Given the description of an element on the screen output the (x, y) to click on. 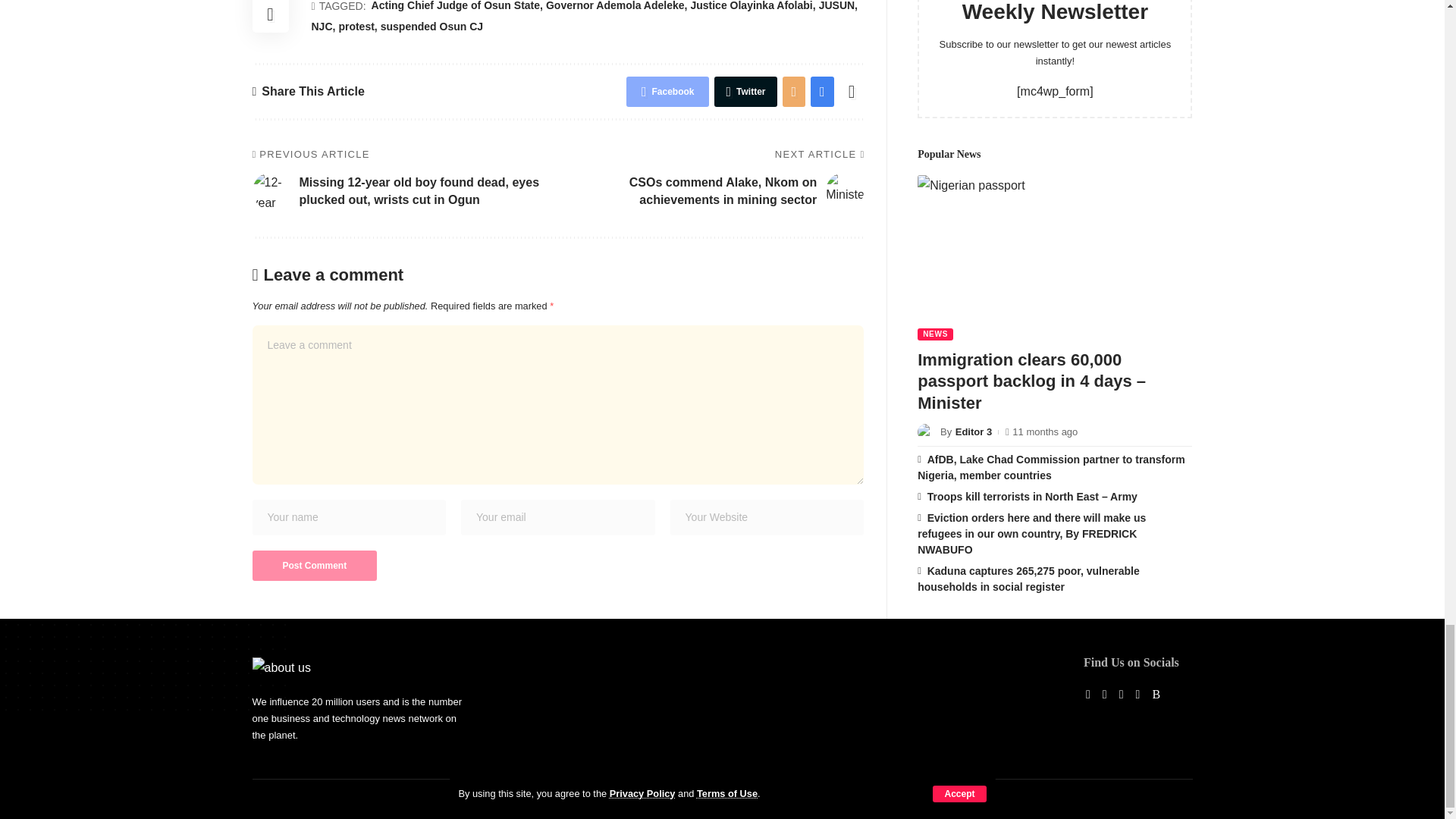
Post Comment (314, 565)
